Given the description of an element on the screen output the (x, y) to click on. 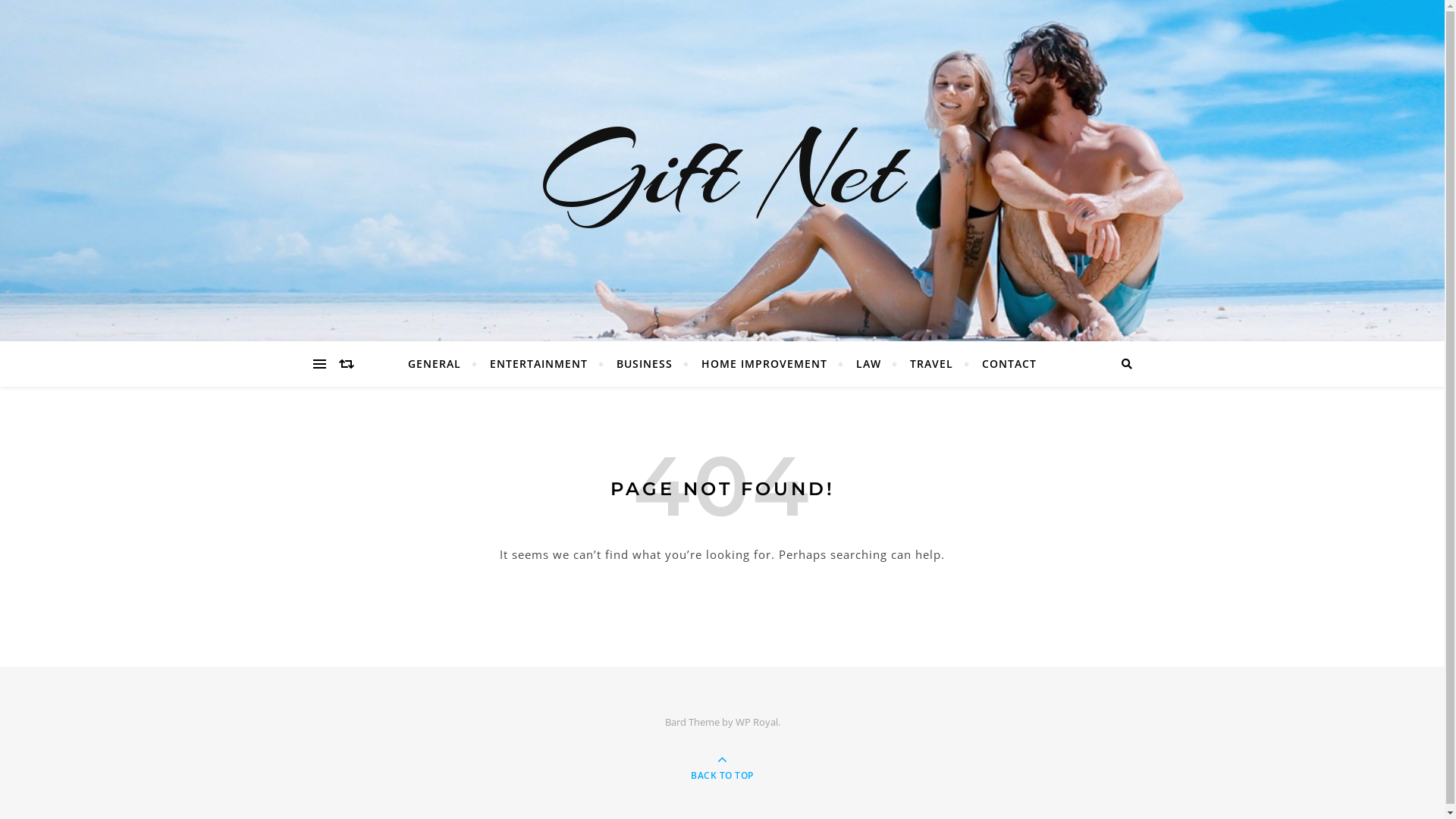
Gift Net Element type: text (722, 170)
TRAVEL Element type: text (931, 363)
CONTACT Element type: text (1002, 363)
LAW Element type: text (868, 363)
HOME IMPROVEMENT Element type: text (764, 363)
WP Royal Element type: text (756, 721)
GENERAL Element type: text (440, 363)
ENTERTAINMENT Element type: text (538, 363)
BUSINESS Element type: text (644, 363)
